Given the description of an element on the screen output the (x, y) to click on. 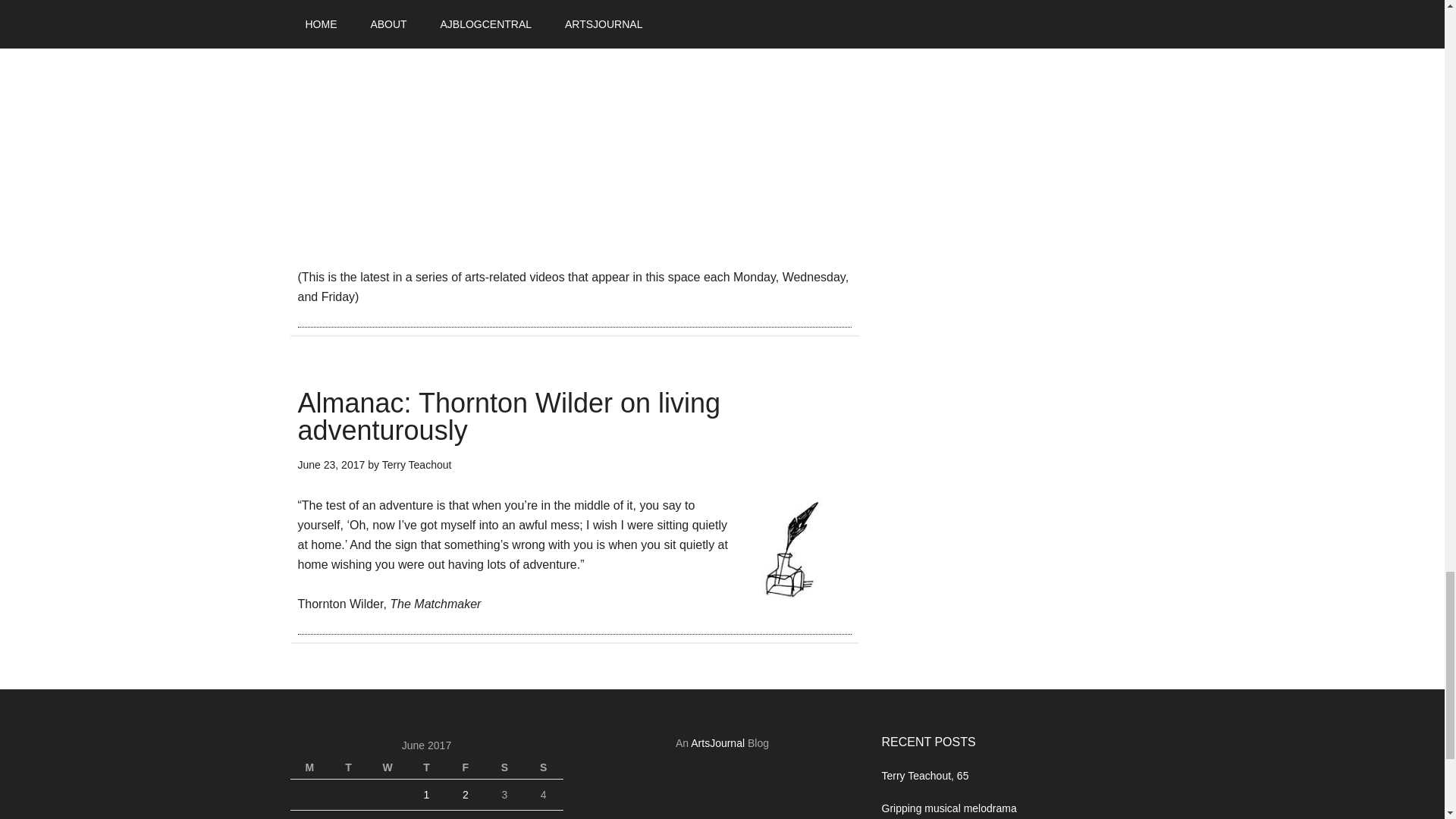
Almanac: Thornton Wilder on living adventurously (508, 415)
Monday (309, 767)
Terry Teachout (416, 463)
Tuesday (348, 767)
Wednesday (387, 767)
